Given the description of an element on the screen output the (x, y) to click on. 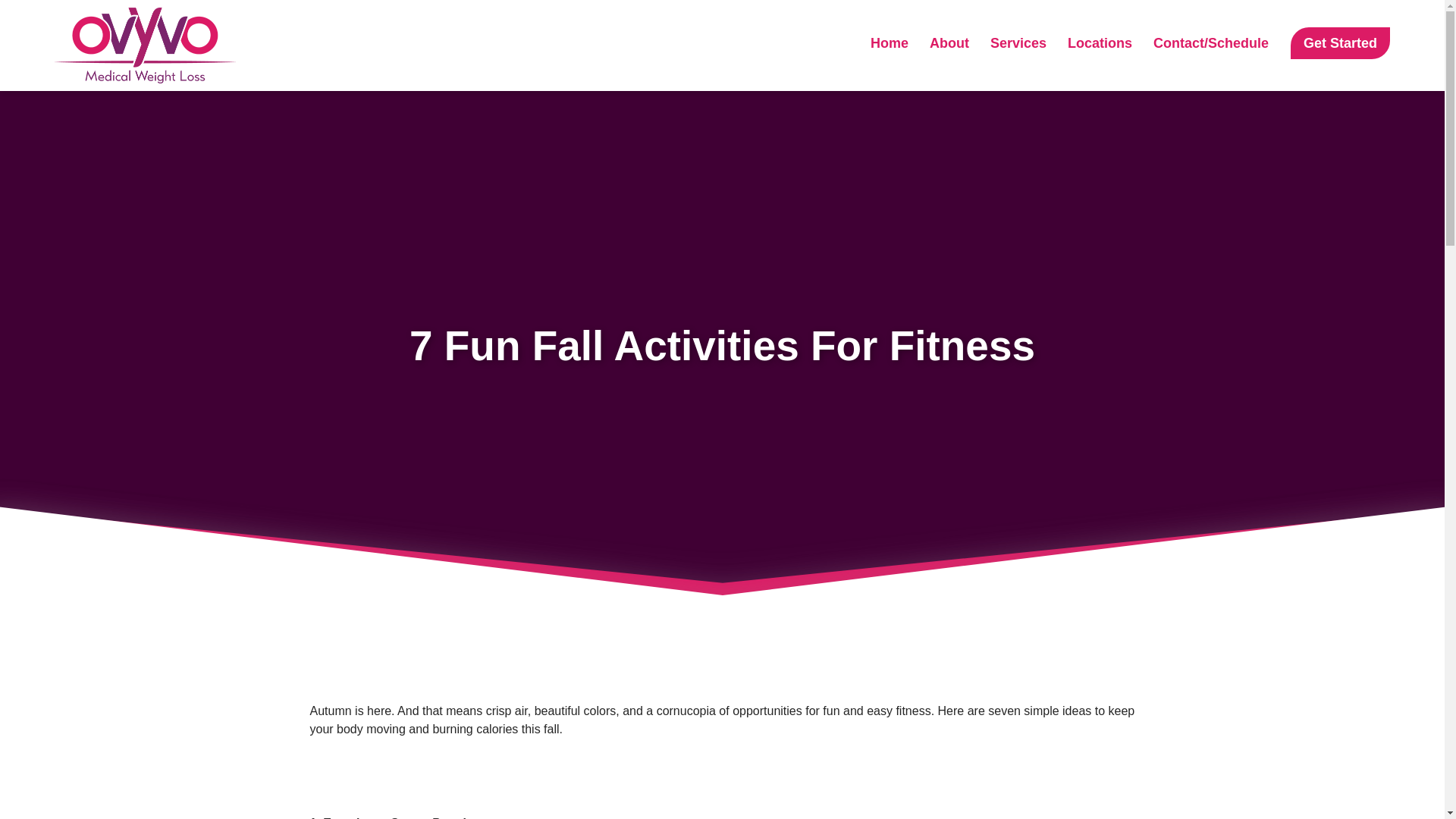
Locations (1099, 42)
About (948, 42)
Get Started (1340, 42)
Services (1018, 42)
OVYVO Medical Weight Loss (133, 91)
Home (889, 42)
